Given the description of an element on the screen output the (x, y) to click on. 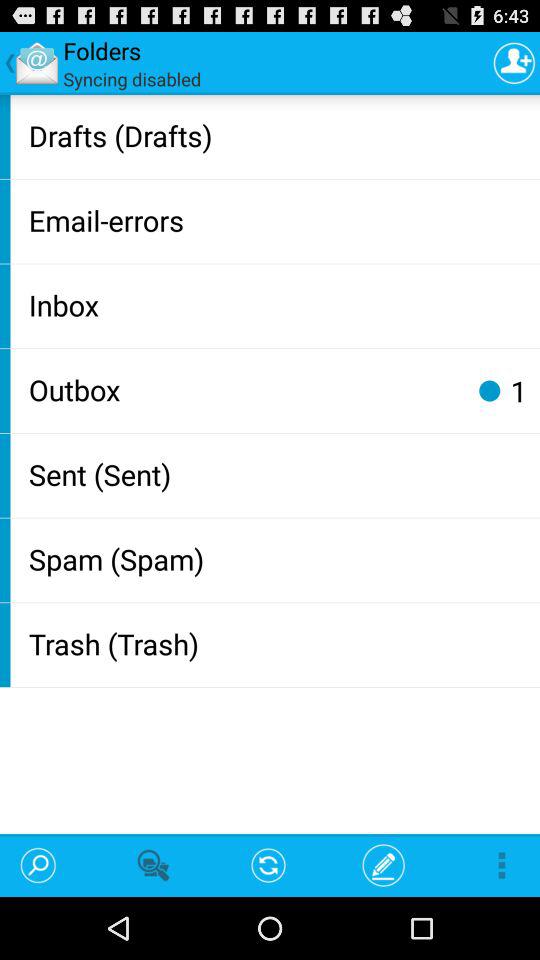
launch icon above the email-errors (280, 134)
